Given the description of an element on the screen output the (x, y) to click on. 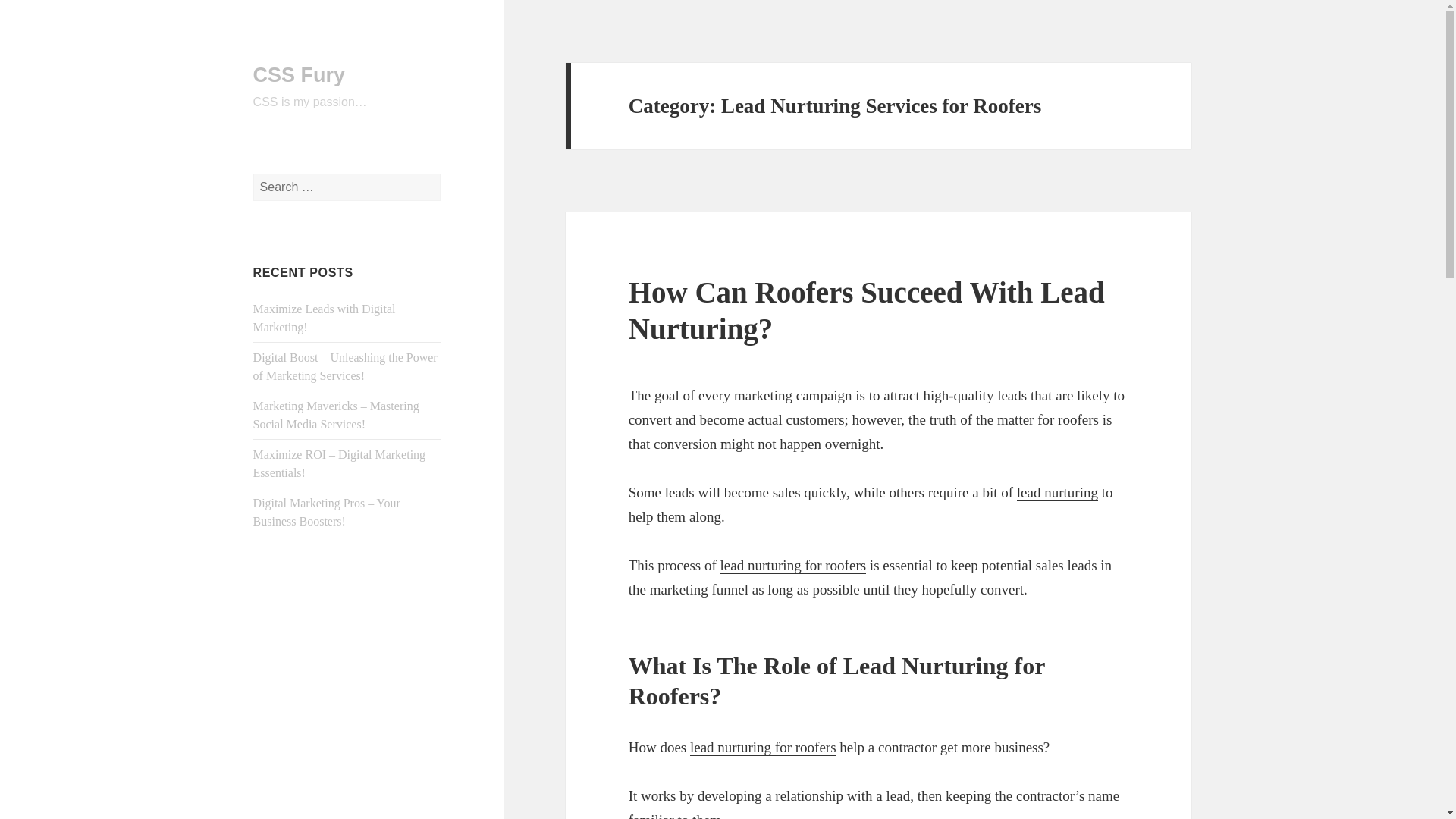
How Can Roofers Succeed With Lead Nurturing? (866, 310)
CSS Fury (299, 74)
lead nurturing for roofers (793, 565)
lead nurturing (1056, 492)
Maximize Leads with Digital Marketing! (324, 317)
lead nurturing for roofers (762, 747)
